Given the description of an element on the screen output the (x, y) to click on. 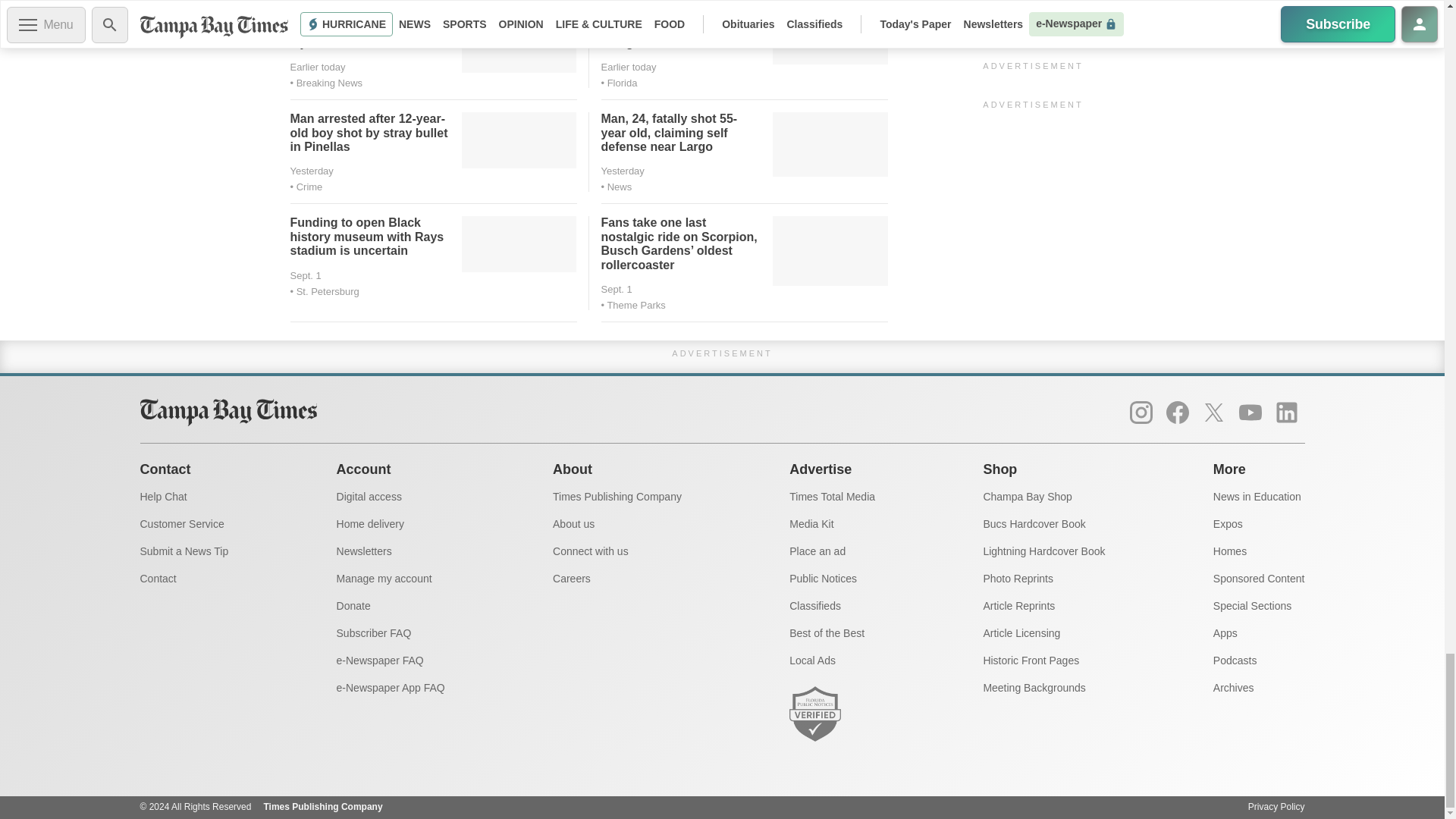
2024-09-01T13:46:51.595Z (621, 171)
2024-09-01T16:44:08.154Z (311, 171)
2024-09-01T10:00:00Z (304, 275)
2024-09-02T22:27:06.513Z (317, 67)
2024-09-02T18:34:09.406Z (627, 67)
